Given the description of an element on the screen output the (x, y) to click on. 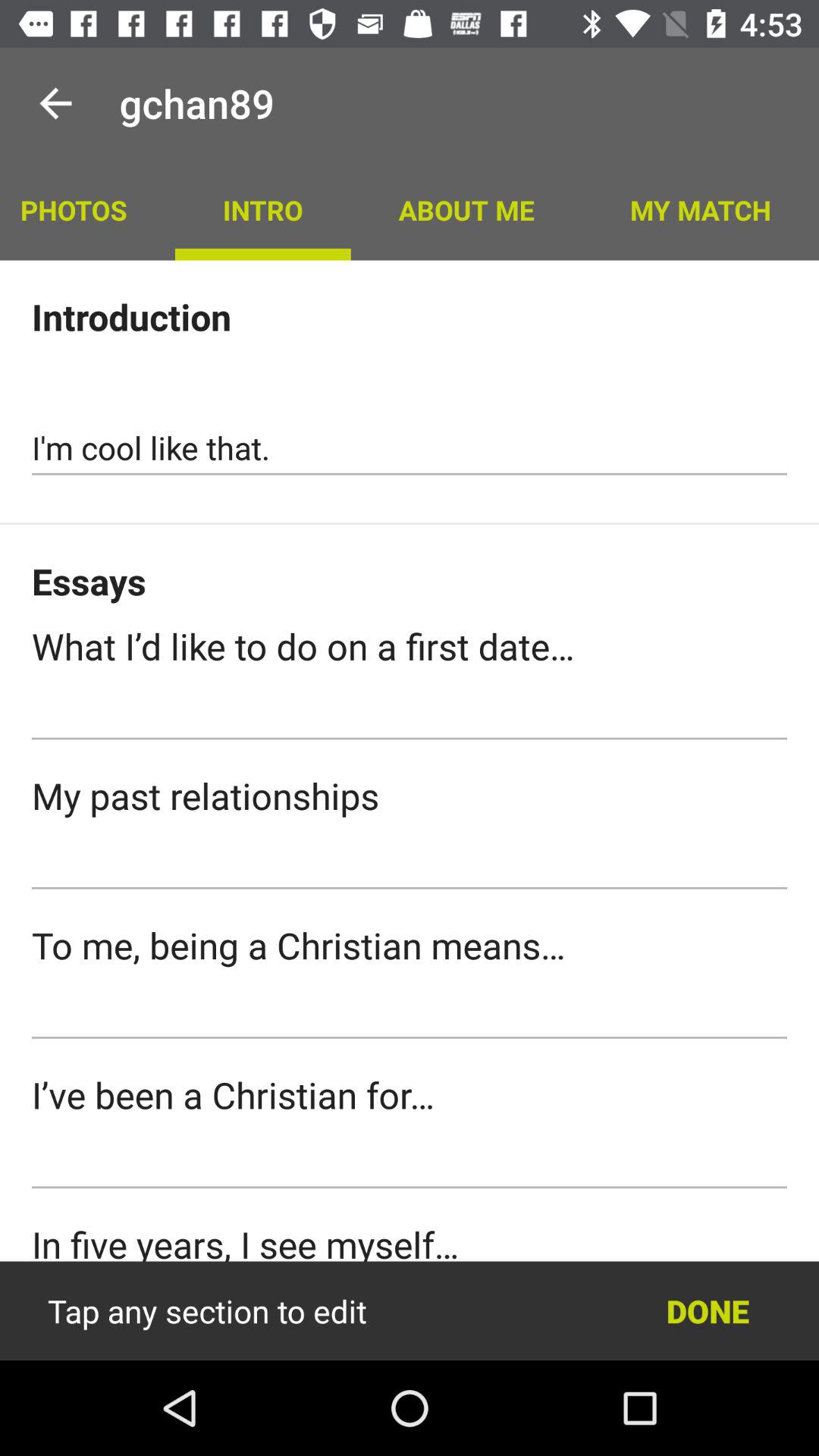
enter past relationships (409, 862)
